Given the description of an element on the screen output the (x, y) to click on. 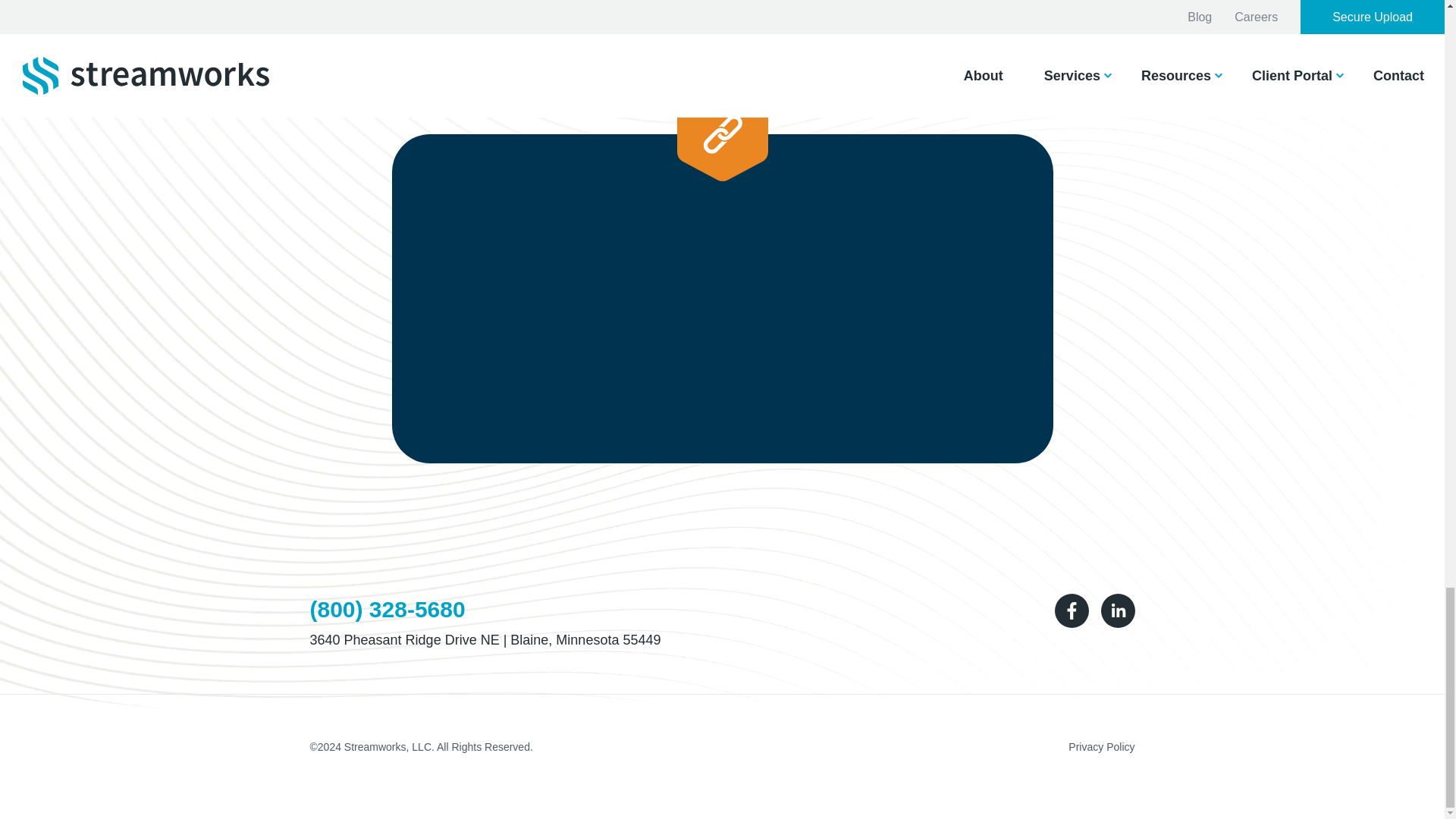
Privacy Policy (1101, 746)
Facebook (1070, 610)
Linkedin (1117, 610)
